Given the description of an element on the screen output the (x, y) to click on. 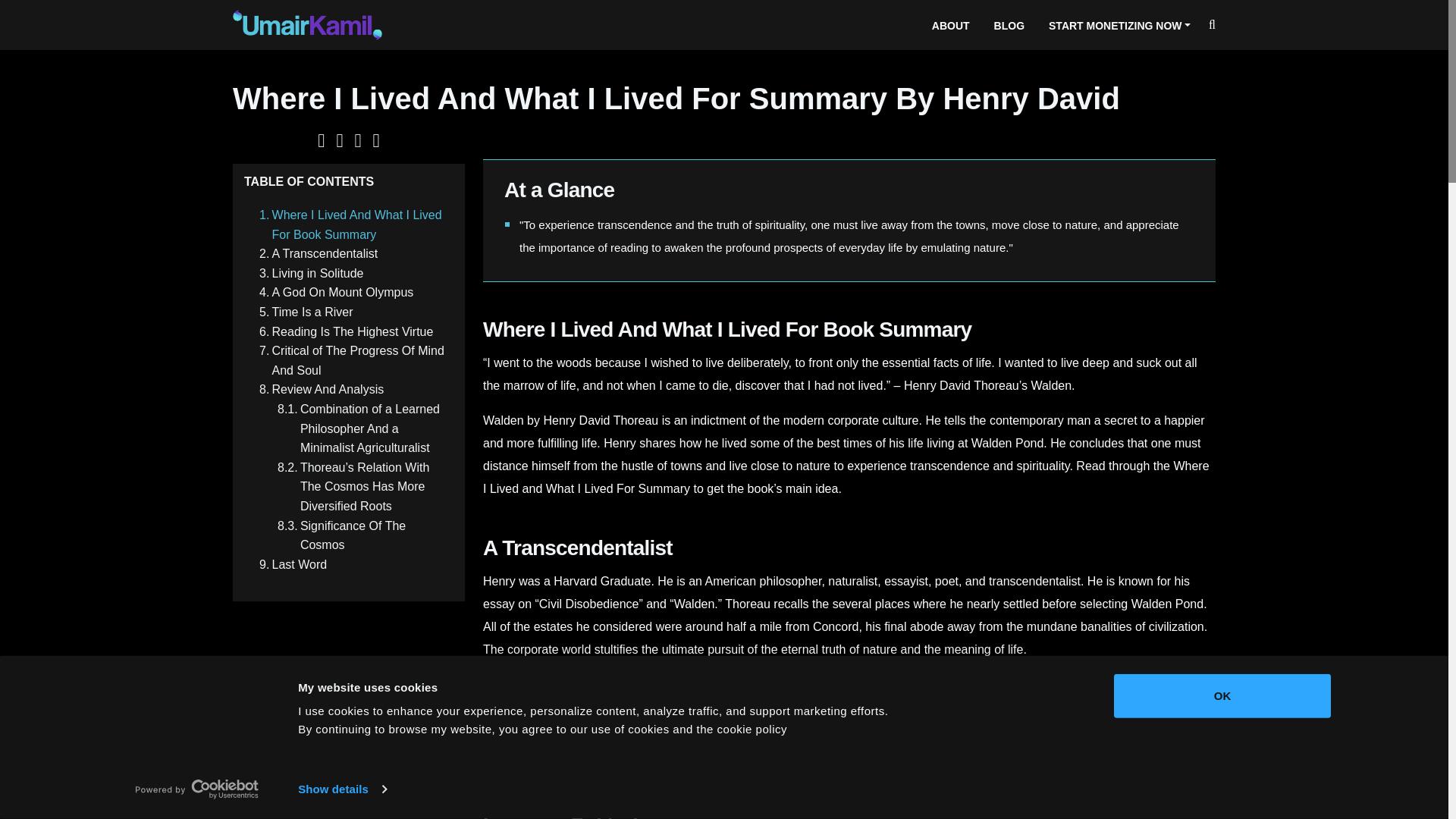
Show details (341, 789)
OK (1221, 696)
Reading Is The Highest Virtue (341, 332)
Time Is a River (302, 312)
Blog (1009, 24)
Living in Solitude (307, 273)
Where I Lived And What I Lived For Book Summary (348, 224)
A God On Mount Olympus (332, 292)
Start Monetizing Now (1119, 24)
A Transcendentalist (314, 253)
About (950, 24)
